Given the description of an element on the screen output the (x, y) to click on. 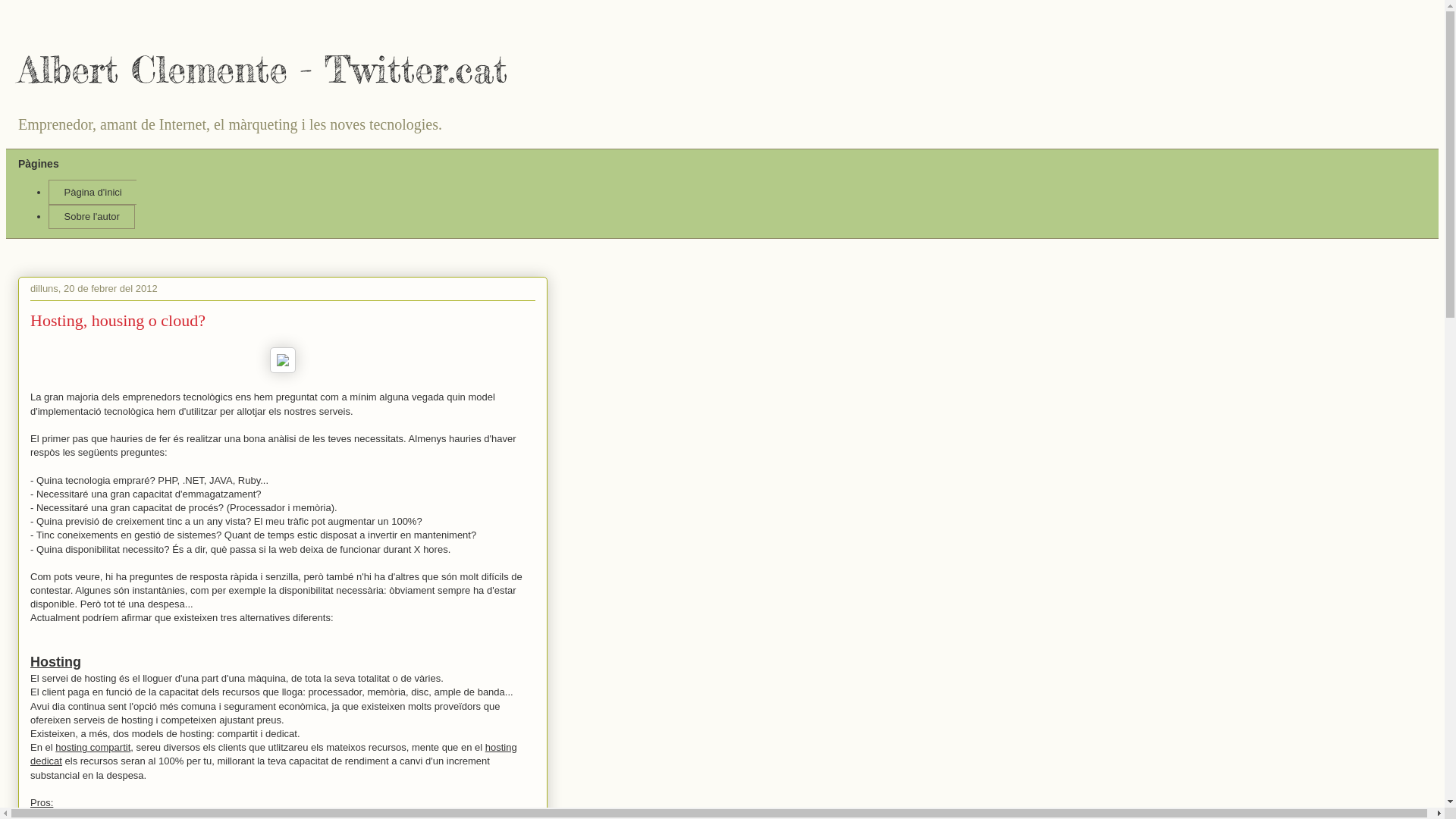
Sobre l'autor Element type: text (91, 216)
Albert Clemente - Twitter.cat Element type: text (262, 69)
